Given the description of an element on the screen output the (x, y) to click on. 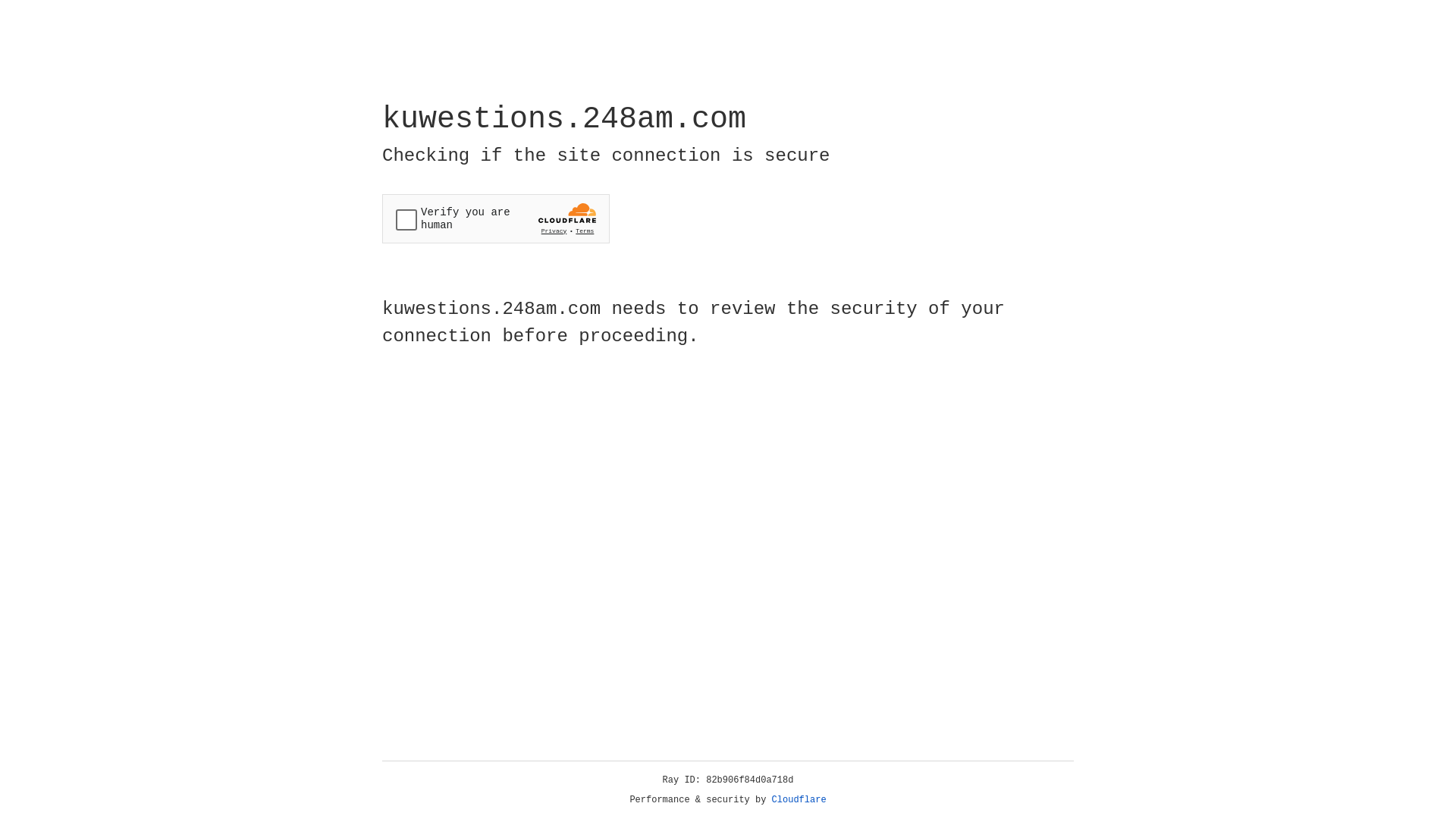
Cloudflare Element type: text (798, 799)
Widget containing a Cloudflare security challenge Element type: hover (495, 218)
